Given the description of an element on the screen output the (x, y) to click on. 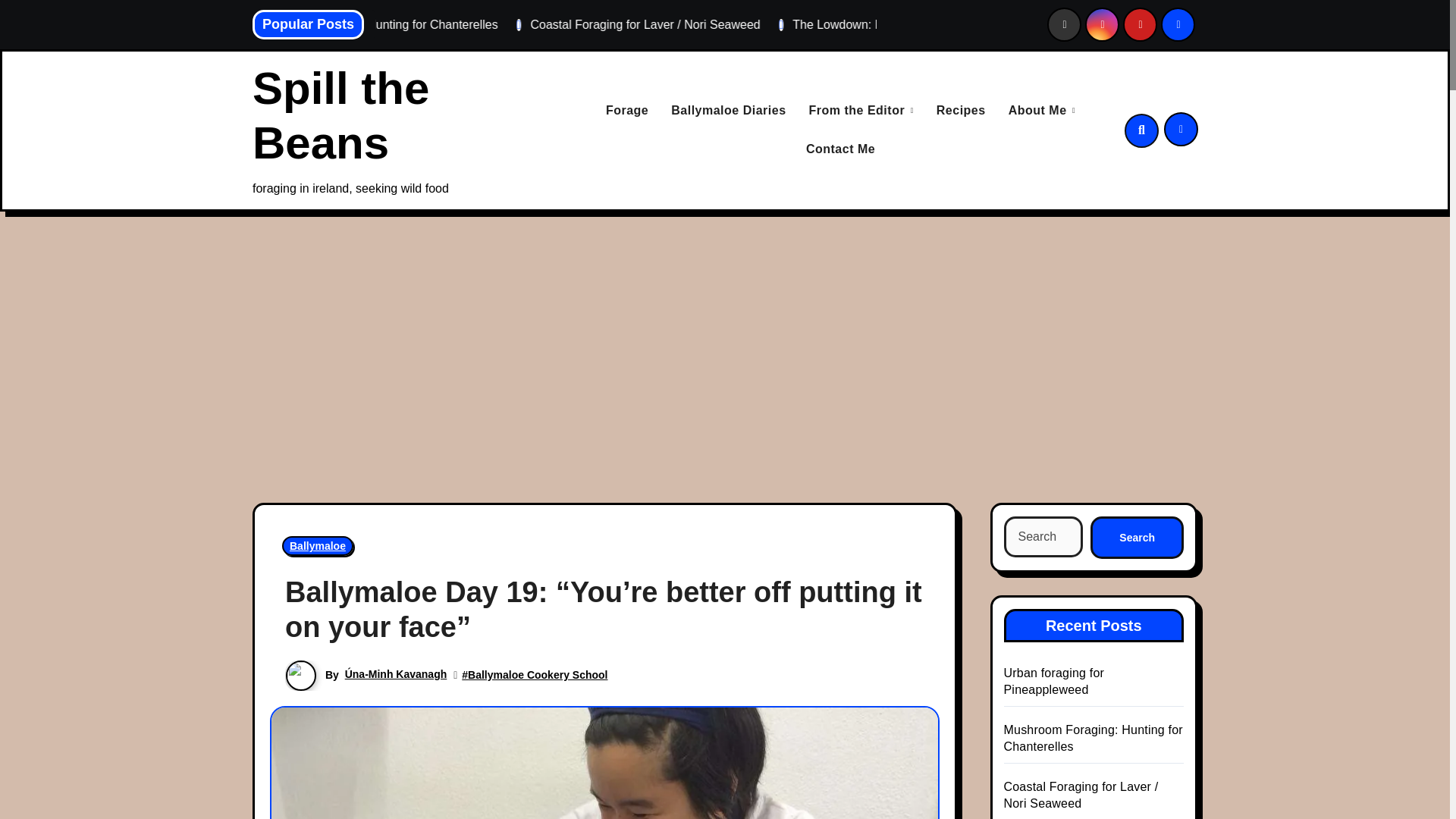
About Me (1042, 110)
Search (1136, 537)
From the Editor (860, 110)
Ballymaloe (317, 546)
Ballymaloe Diaries (727, 110)
Ballymaloe Diaries (727, 110)
Contact Me (840, 149)
Mushroom Foraging: Hunting for Chanterelles (567, 24)
About Me (1042, 110)
Urban foraging for Pineappleweed (320, 24)
Spill the Beans (340, 115)
From the Editor (860, 110)
Contact Me (840, 149)
Forage (626, 110)
